Given the description of an element on the screen output the (x, y) to click on. 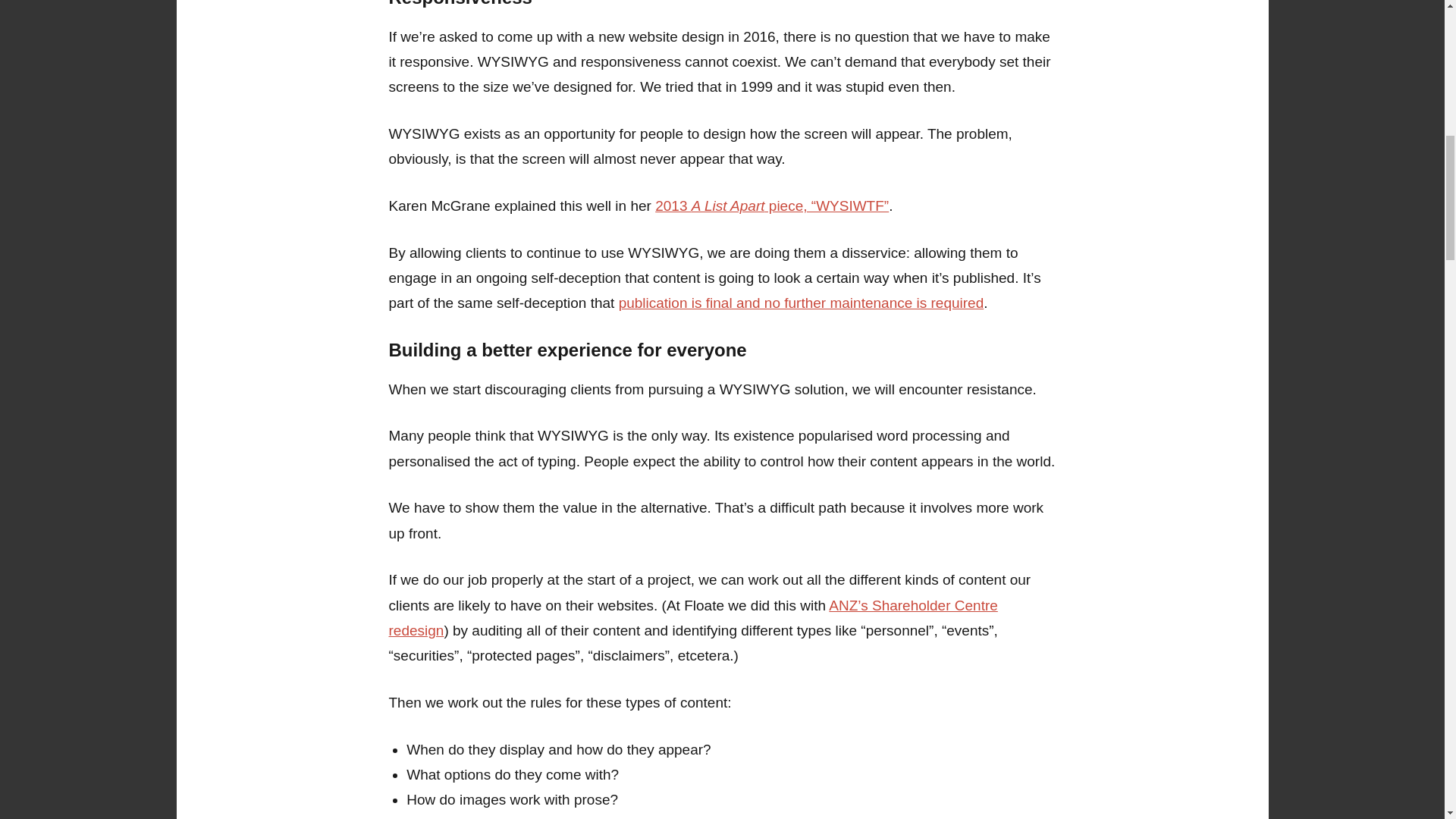
publication is final and no further maintenance is required (801, 302)
